Given the description of an element on the screen output the (x, y) to click on. 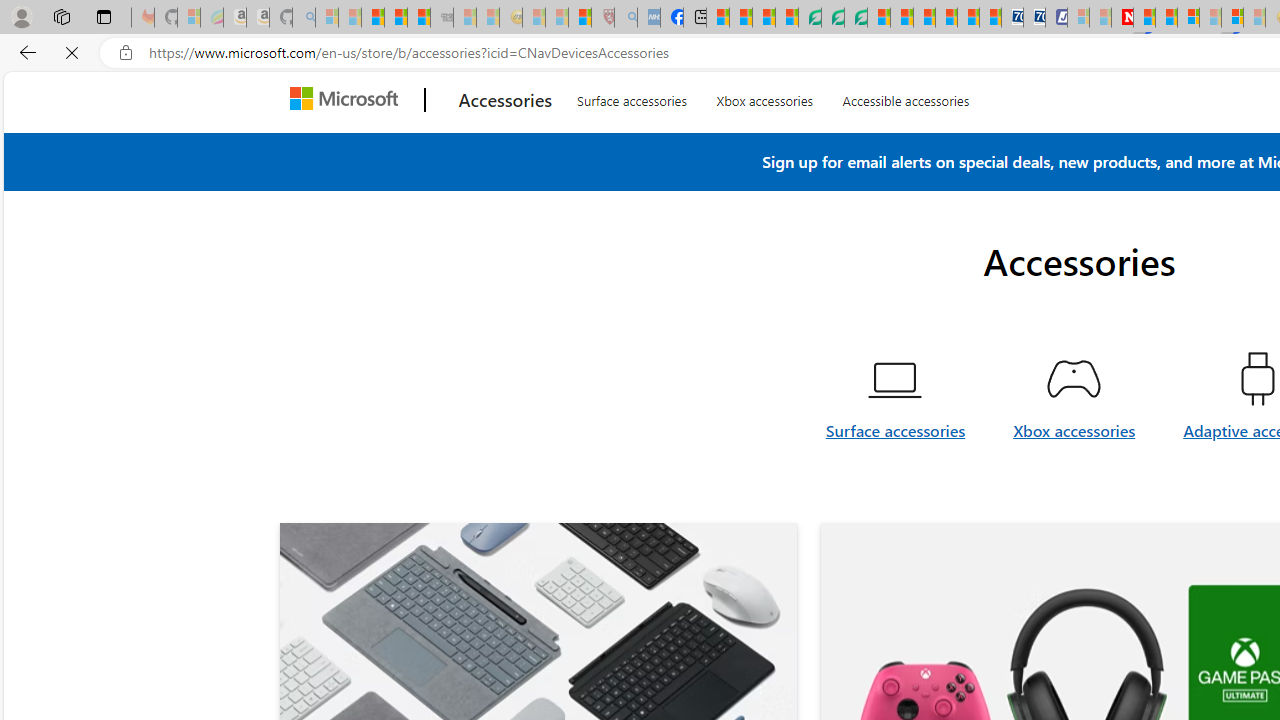
Xbox accessories (1074, 442)
Latest Politics News & Archive | Newsweek.com (1122, 17)
Accessible accessories (906, 144)
Local - MSN (580, 17)
LendingTree - Compare Lenders (809, 17)
